Given the description of an element on the screen output the (x, y) to click on. 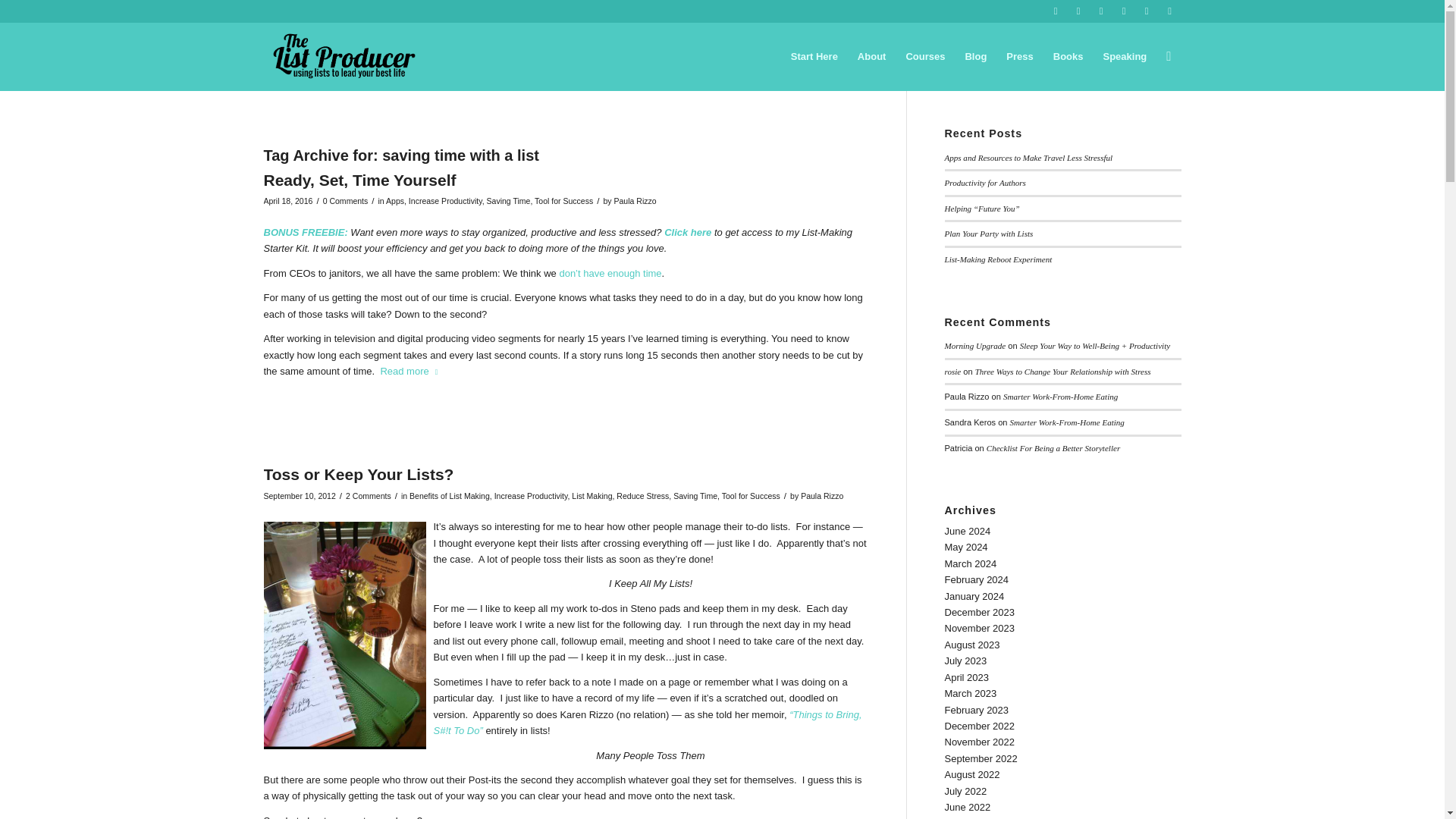
Read more (412, 371)
Instagram (1124, 11)
Apps (394, 200)
Increase Productivity (531, 495)
Speaking (1124, 56)
Increase Productivity (445, 200)
Start Here (813, 56)
Paula Rizzo (635, 200)
Twitter (1056, 11)
Saving Time (694, 495)
Paula Rizzo (821, 495)
Toss or Keep Your Lists? (358, 474)
List Making (591, 495)
Blog (975, 56)
Pinterest (1146, 11)
